Given the description of an element on the screen output the (x, y) to click on. 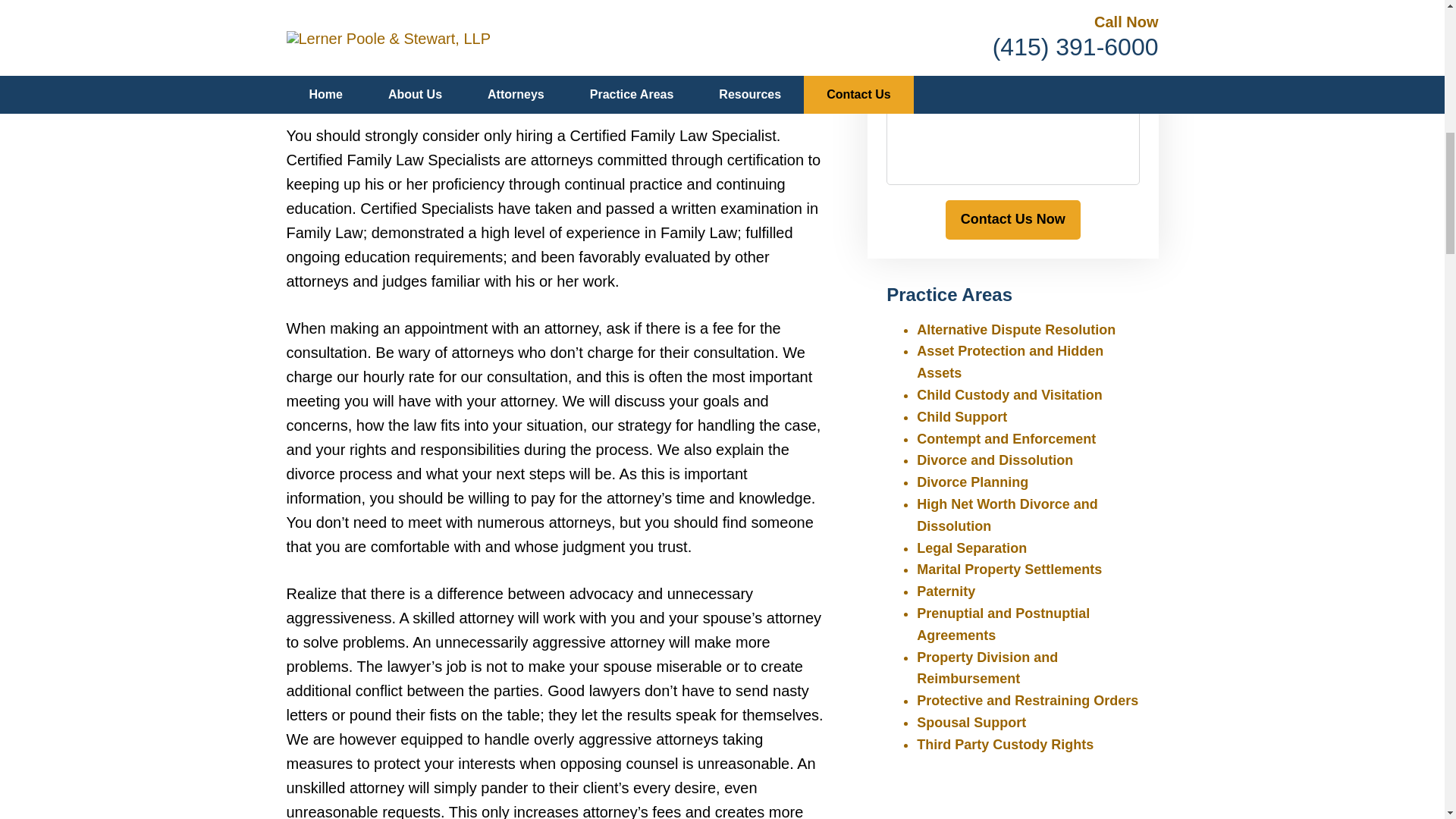
Contact Us Now (1012, 219)
Contempt and Enforcement (1006, 438)
High Net Worth Divorce and Dissolution (1007, 514)
Property Division and Reimbursement (987, 668)
Prenuptial and Postnuptial Agreements (1003, 624)
Marital Property Settlements (1009, 569)
Paternity (946, 590)
Child Custody and Visitation (1009, 394)
Third Party Custody Rights (1005, 744)
Alternative Dispute Resolution (1016, 329)
Child Support (962, 417)
Asset Protection and Hidden Assets (1010, 361)
Divorce Planning (972, 482)
Legal Separation (971, 548)
Protective and Restraining Orders (1027, 700)
